Given the description of an element on the screen output the (x, y) to click on. 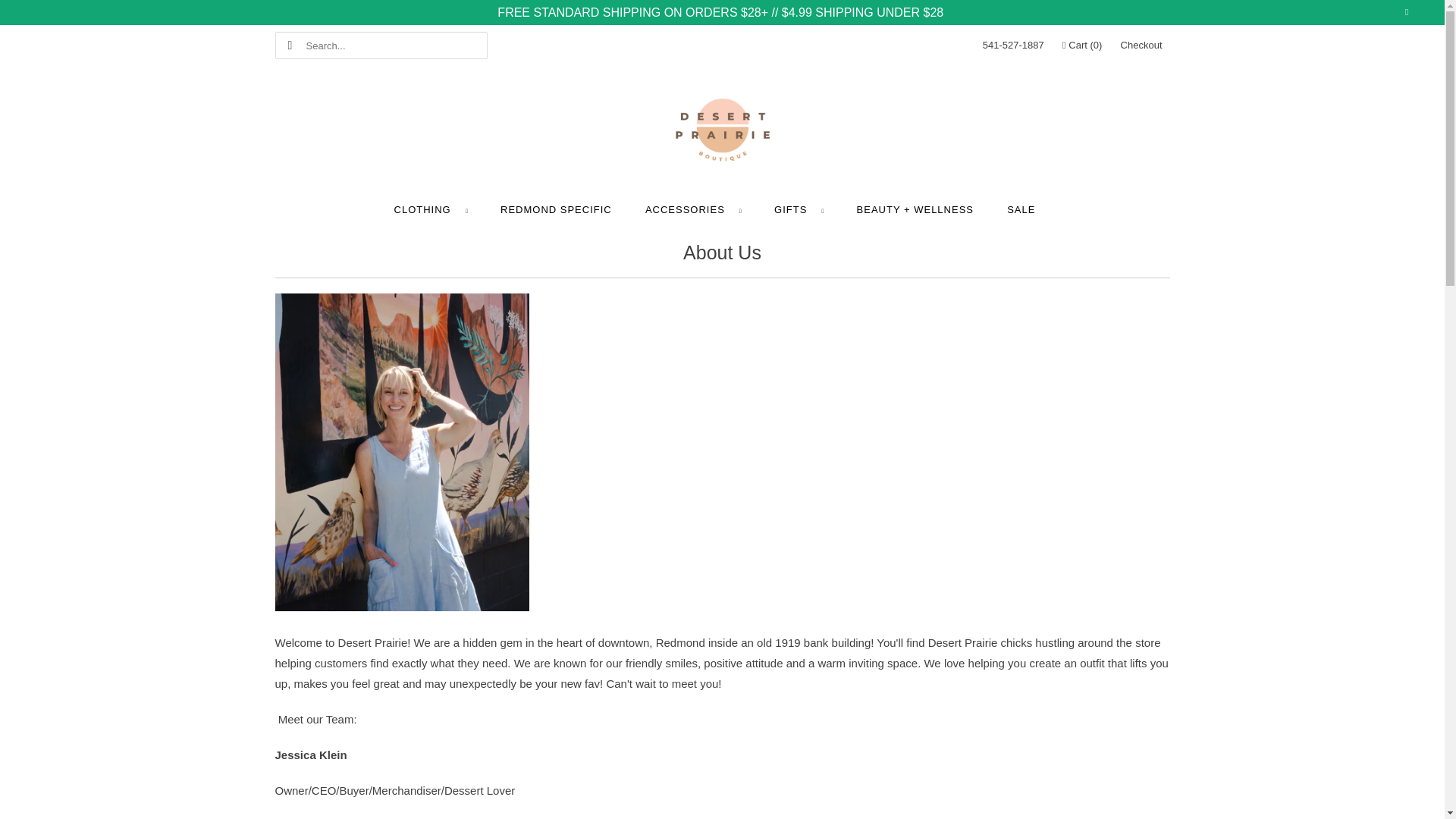
Desert Prairie Boutique (722, 132)
541-527-1887 (1012, 45)
Checkout (1141, 45)
